Given the description of an element on the screen output the (x, y) to click on. 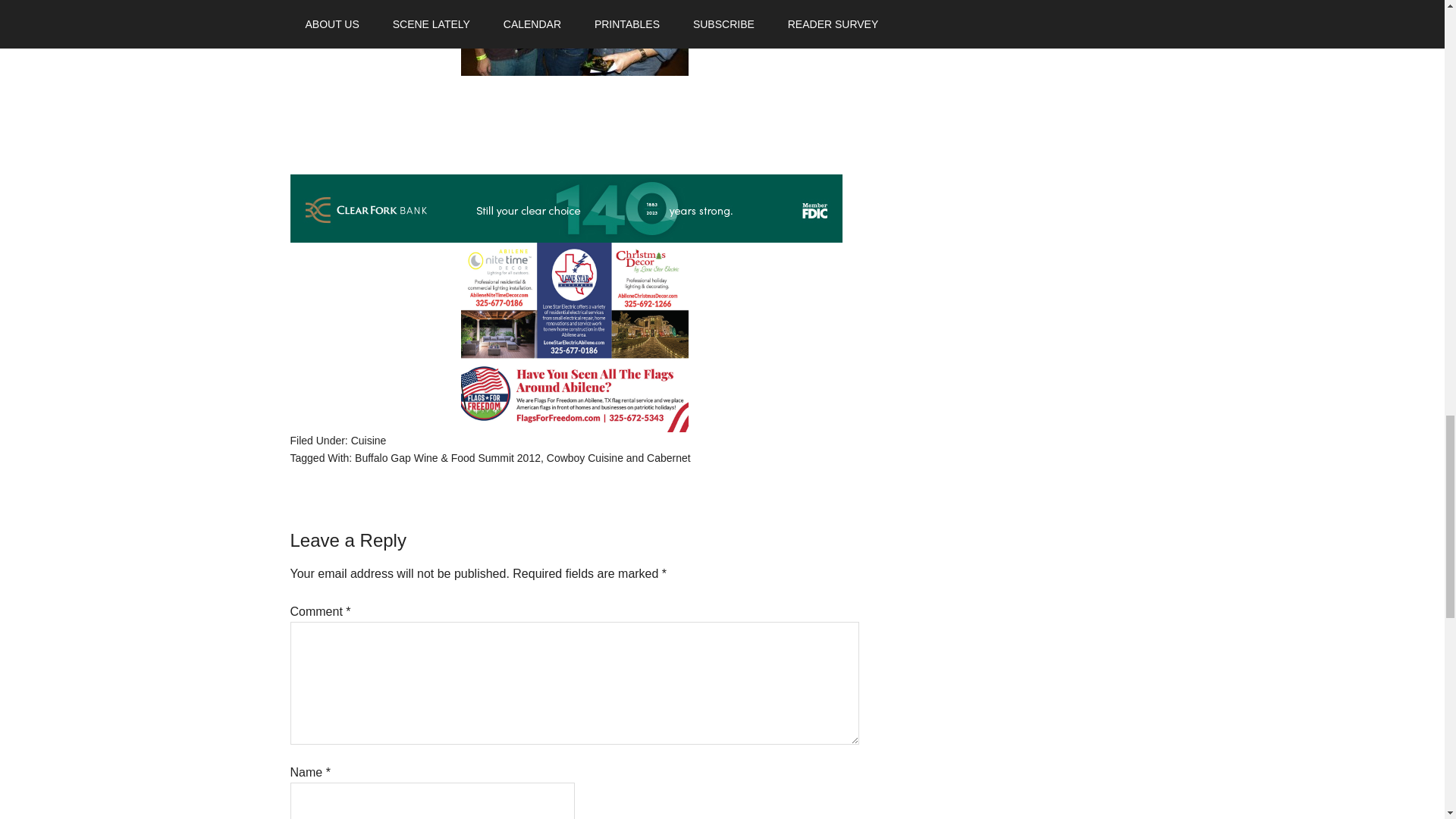
DSCN3300 (574, 38)
